Given the description of an element on the screen output the (x, y) to click on. 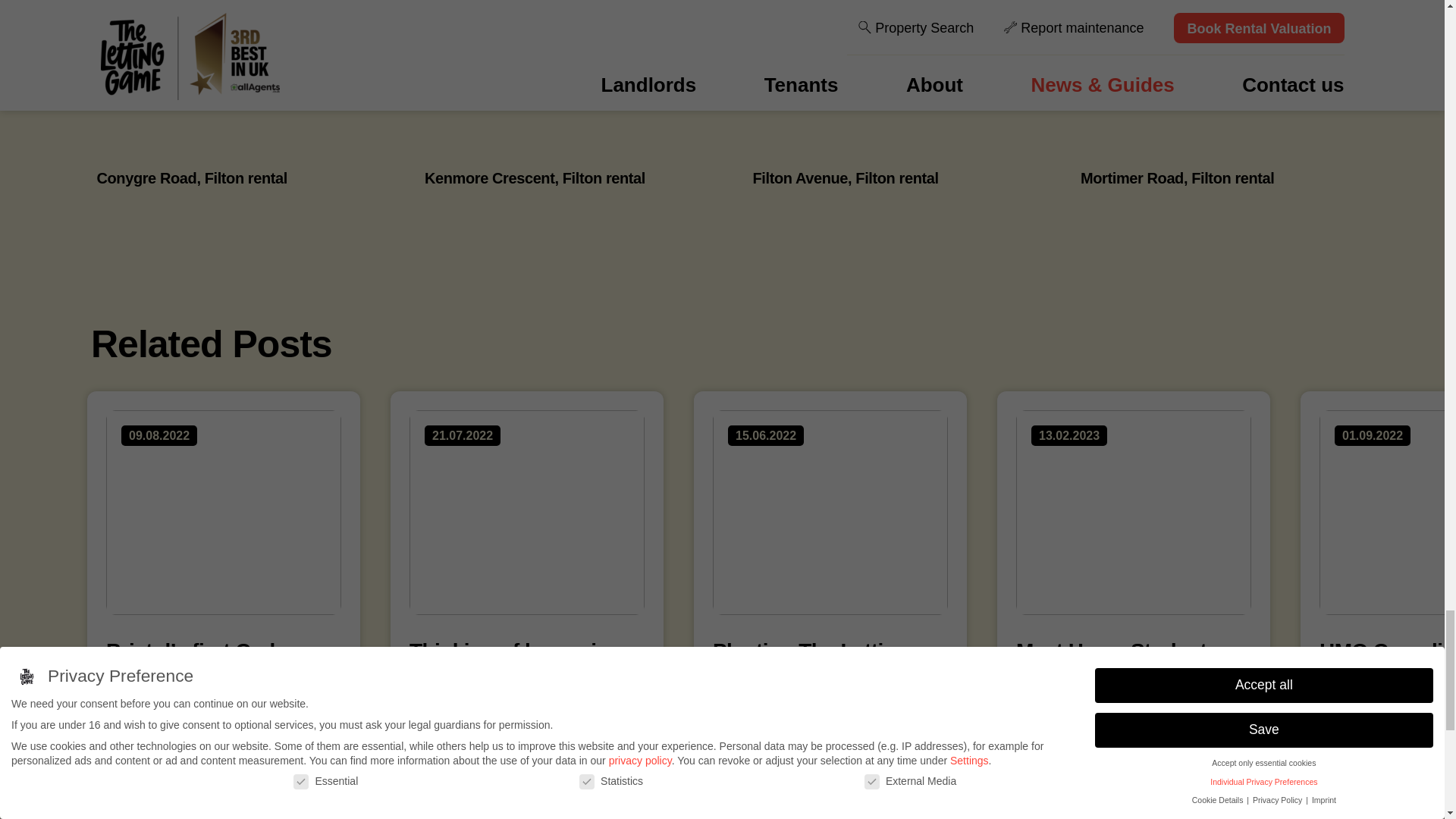
Meet Hope, Student Lettings Manager (1133, 568)
Read article (1078, 715)
Bristol's first Carbon Neutral letting agency (223, 568)
Planting The Letting Game Forest (830, 568)
Read article (168, 715)
Read article (470, 715)
Thinking of becoming a landlord? (527, 568)
Read article (774, 715)
